Given the description of an element on the screen output the (x, y) to click on. 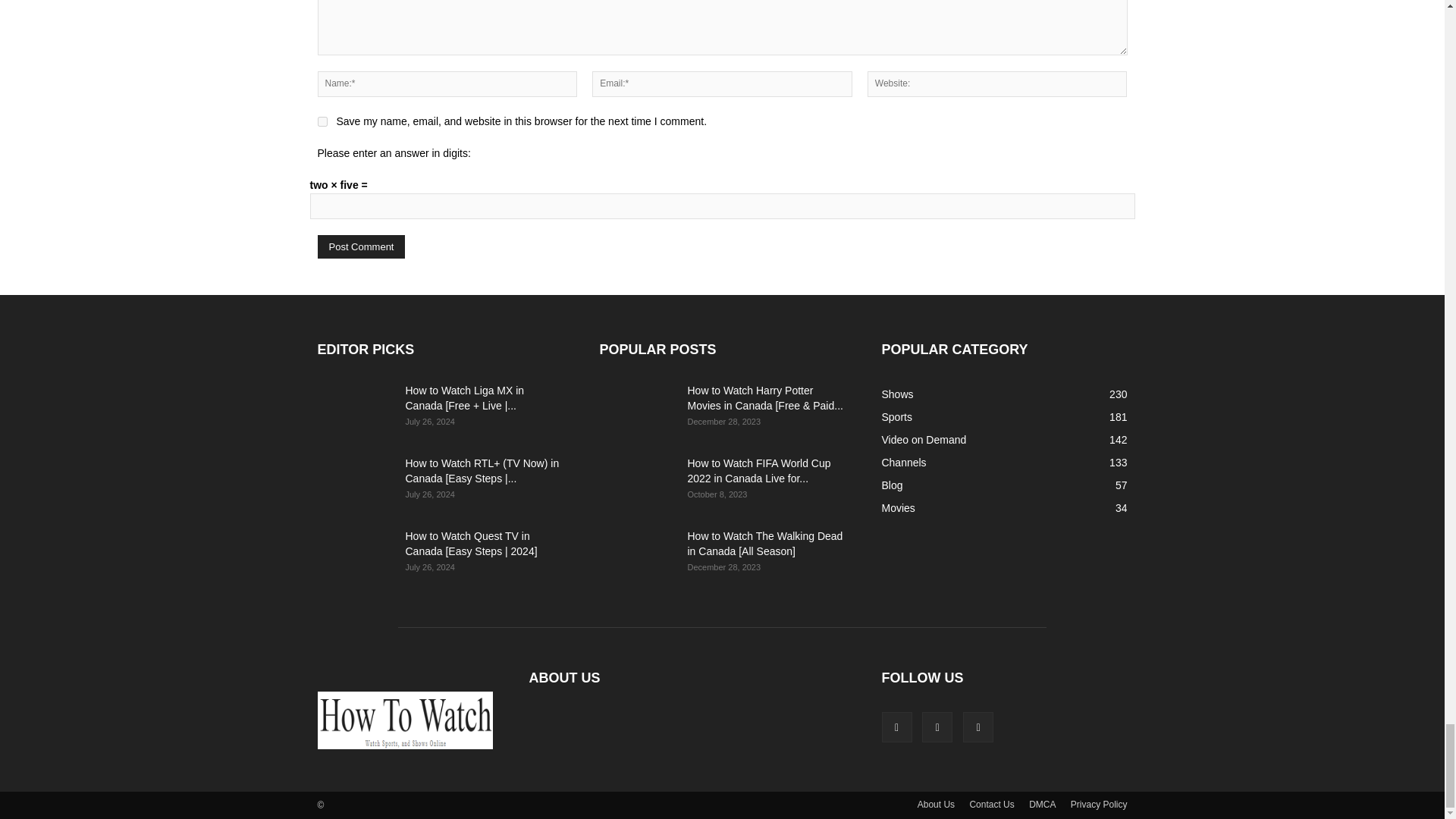
yes (321, 121)
Post Comment (360, 246)
